Given the description of an element on the screen output the (x, y) to click on. 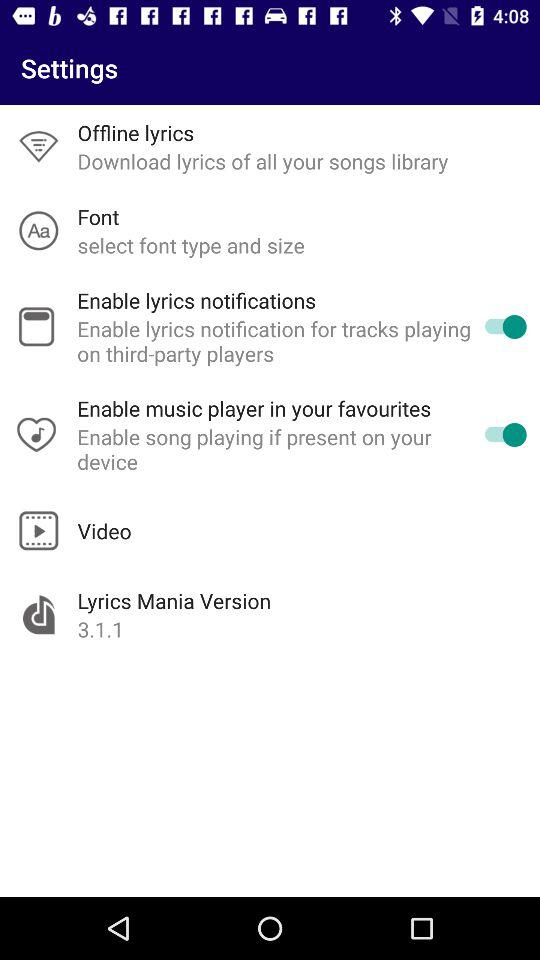
swipe until offline lyrics icon (135, 132)
